Given the description of an element on the screen output the (x, y) to click on. 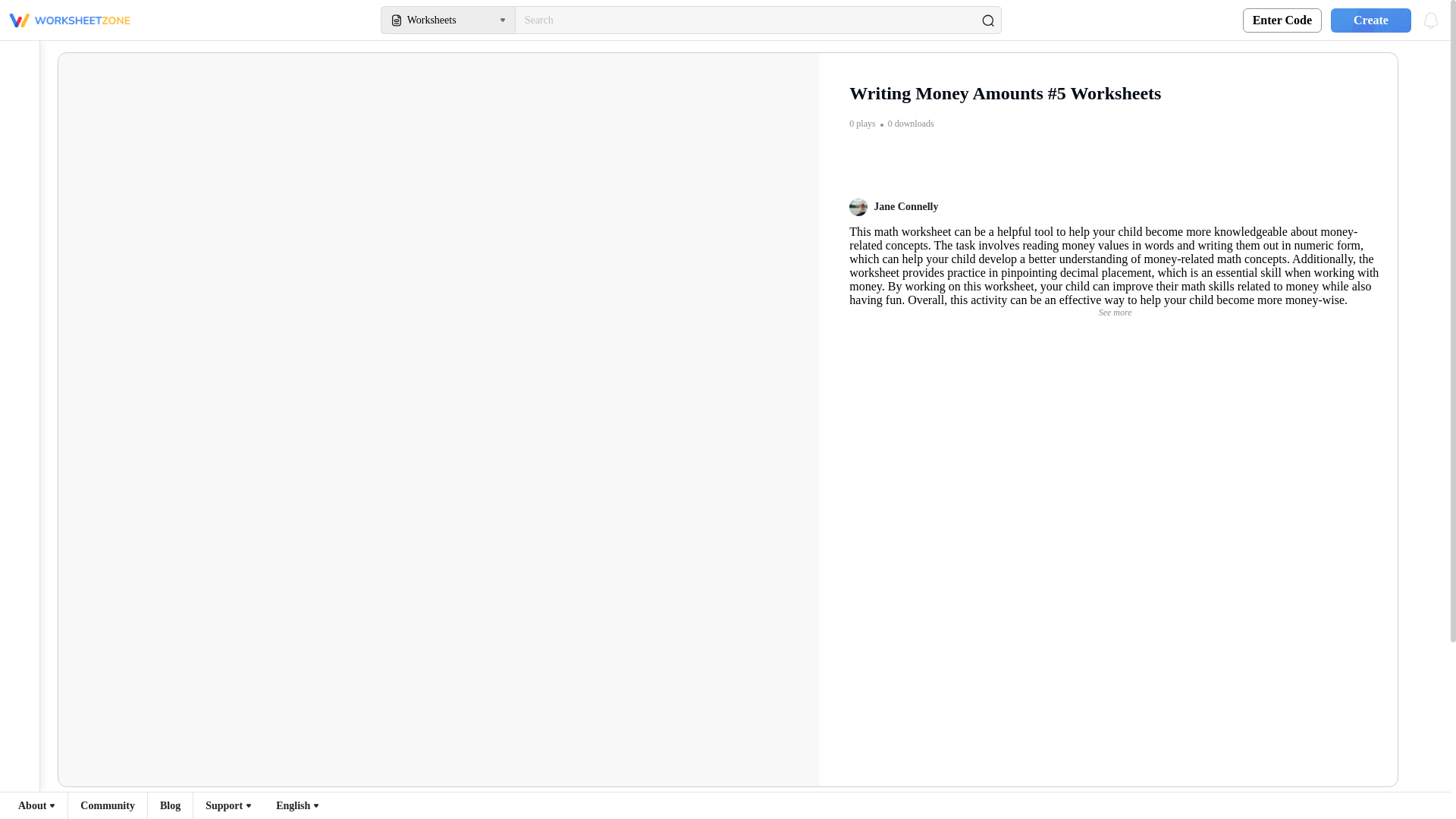
Create (1366, 19)
Blog (170, 805)
Enter Code (1282, 19)
Jane Connelly (892, 207)
